Given the description of an element on the screen output the (x, y) to click on. 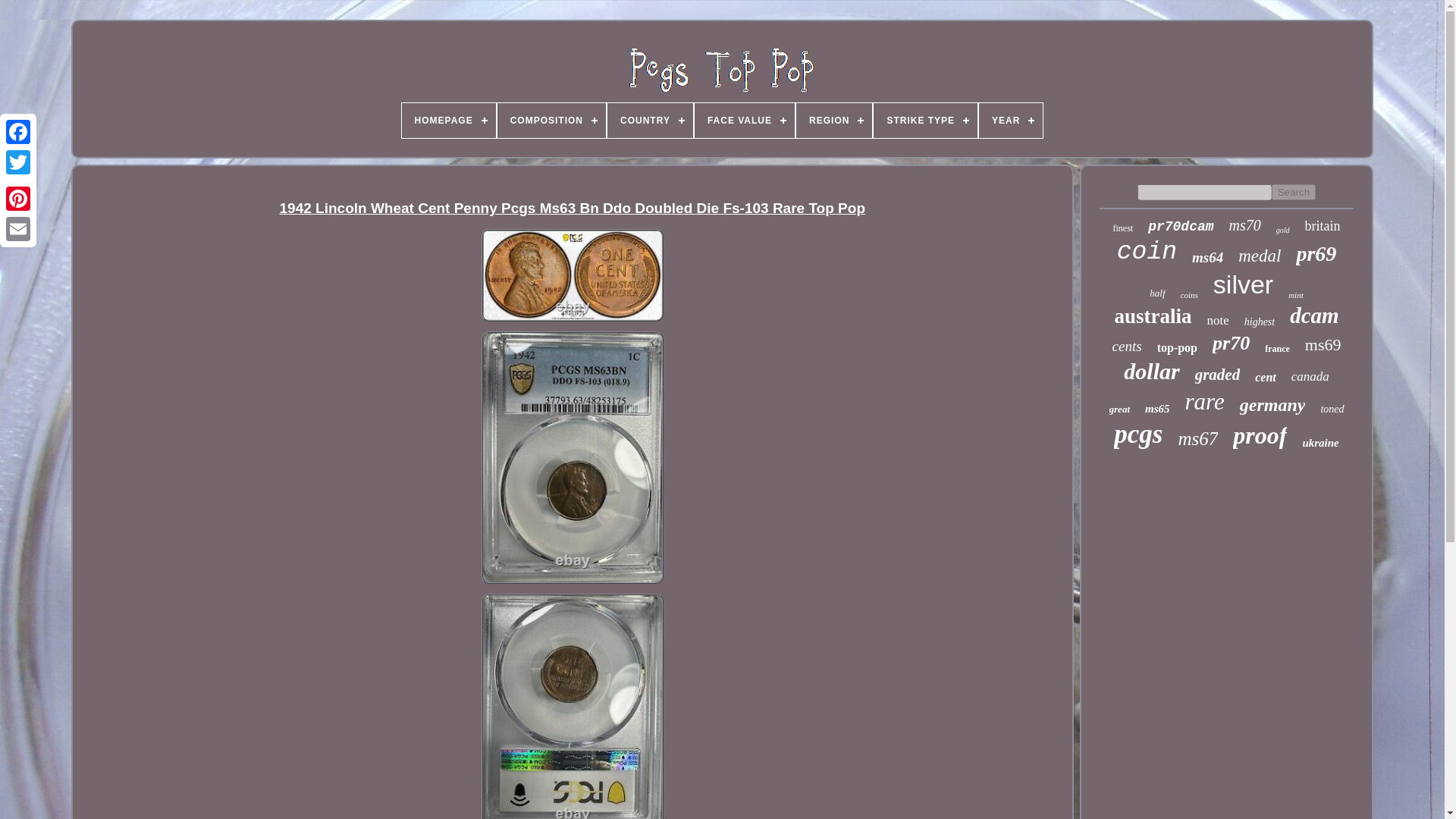
HOMEPAGE (448, 120)
Search (1293, 191)
COMPOSITION (551, 120)
FACE VALUE (744, 120)
COUNTRY (650, 120)
Facebook (17, 132)
